Given the description of an element on the screen output the (x, y) to click on. 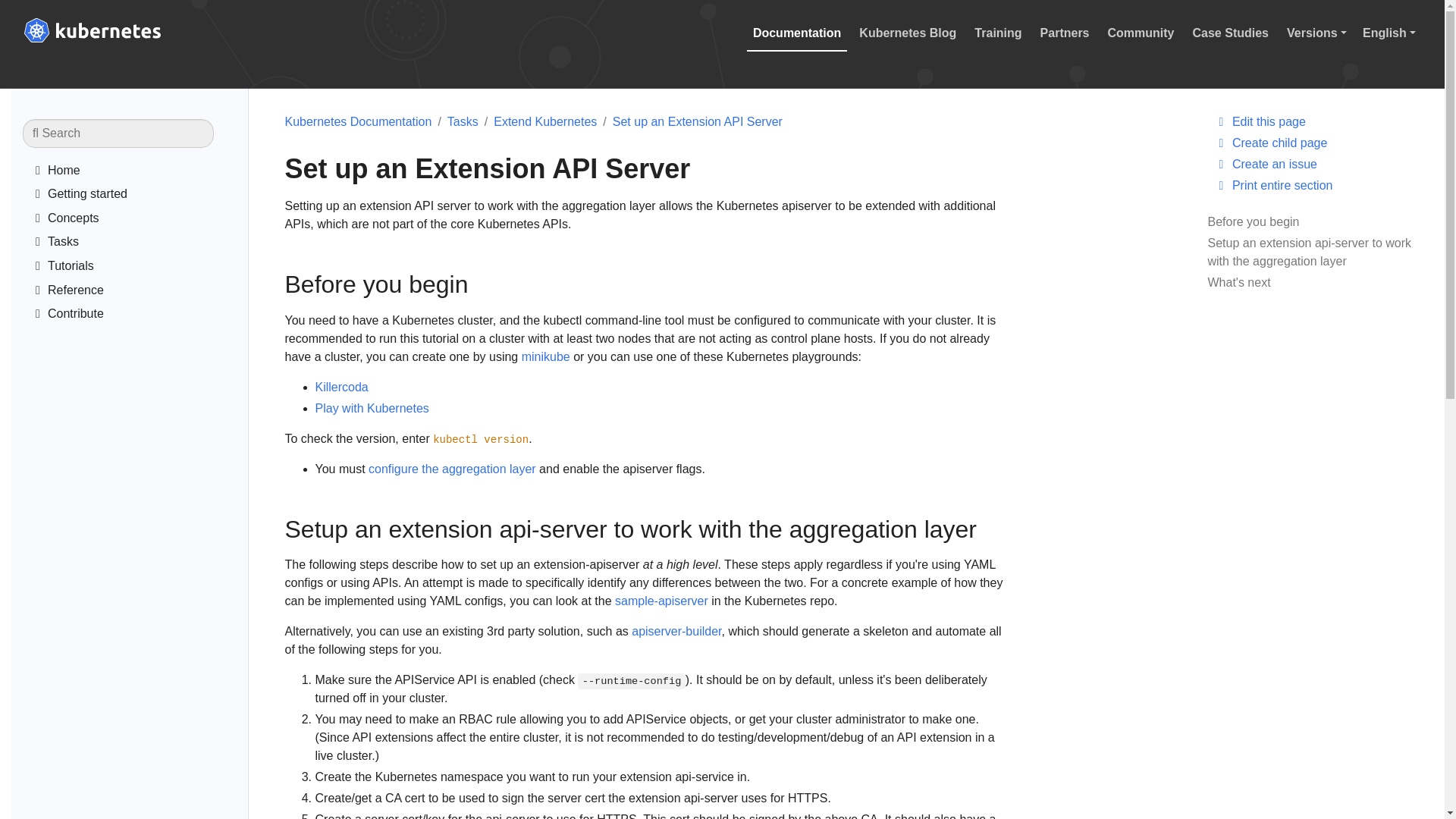
Community (1141, 33)
Versions (1318, 33)
Partners (1064, 33)
Documentation (796, 33)
Kubernetes Blog (907, 33)
Case Studies (1230, 33)
Contribute to K8s docs (138, 315)
English (1394, 33)
Kubernetes Documentation (138, 172)
Getting started (138, 196)
Training (997, 33)
Home (138, 172)
